Given the description of an element on the screen output the (x, y) to click on. 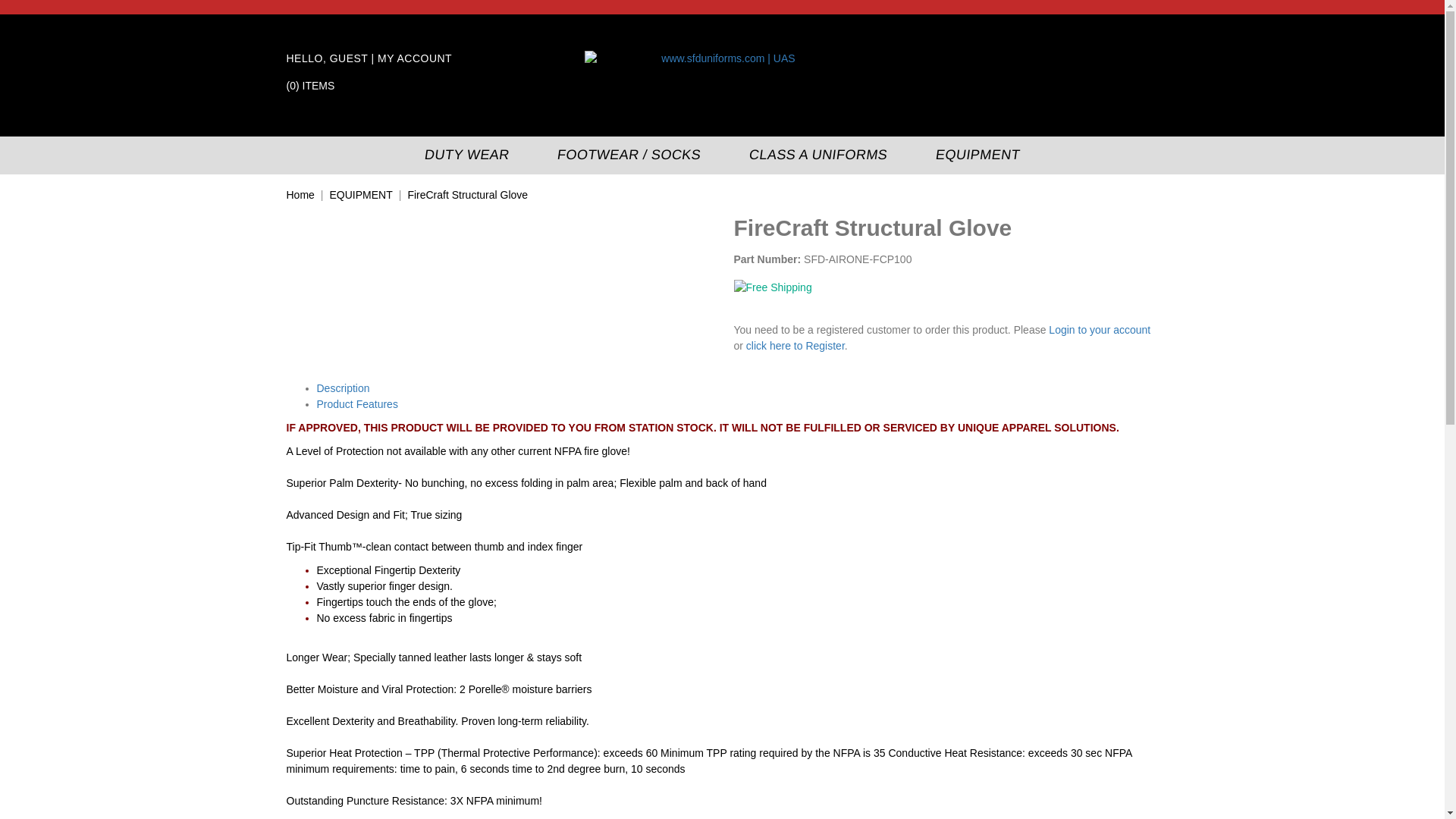
Home (300, 194)
FireCraft Structural Glove (467, 194)
CLASS A UNIFORMS (815, 155)
click here to Register (794, 345)
Product Features (357, 404)
Login to your account (1099, 329)
Description (343, 387)
EQUIPMENT (976, 155)
DUTY WEAR (463, 155)
EQUIPMENT (360, 194)
